Given the description of an element on the screen output the (x, y) to click on. 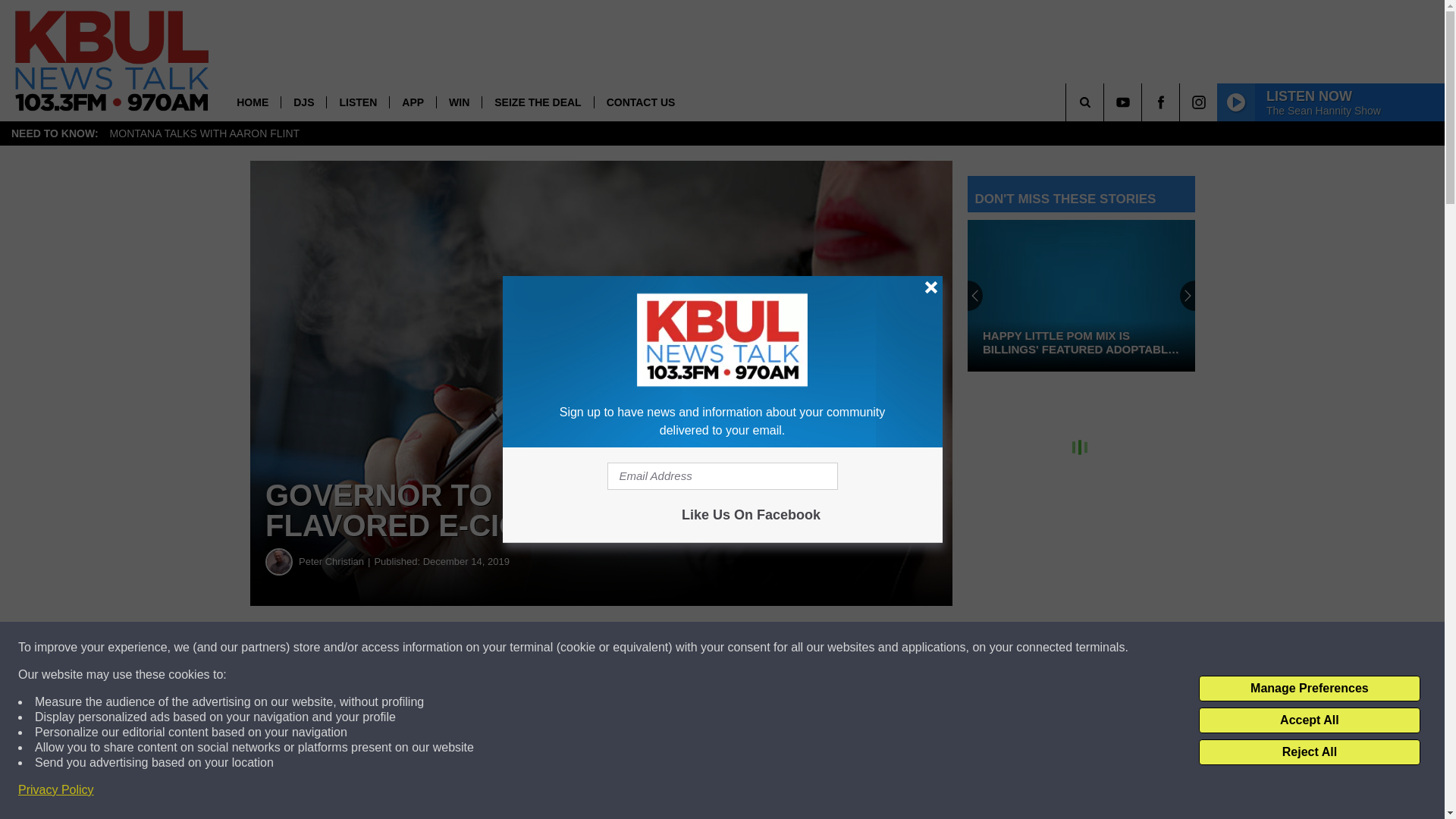
LISTEN (357, 102)
MONTANA TALKS WITH AARON FLINT (205, 133)
Reject All (1309, 751)
HOME (252, 102)
WIN (458, 102)
DJS (303, 102)
SEIZE THE DEAL (536, 102)
SEARCH (1106, 102)
APP (411, 102)
Manage Preferences (1309, 688)
SEARCH (1106, 102)
Email Address (722, 475)
Share on Twitter (741, 647)
Share on Facebook (460, 647)
Privacy Policy (55, 789)
